Given the description of an element on the screen output the (x, y) to click on. 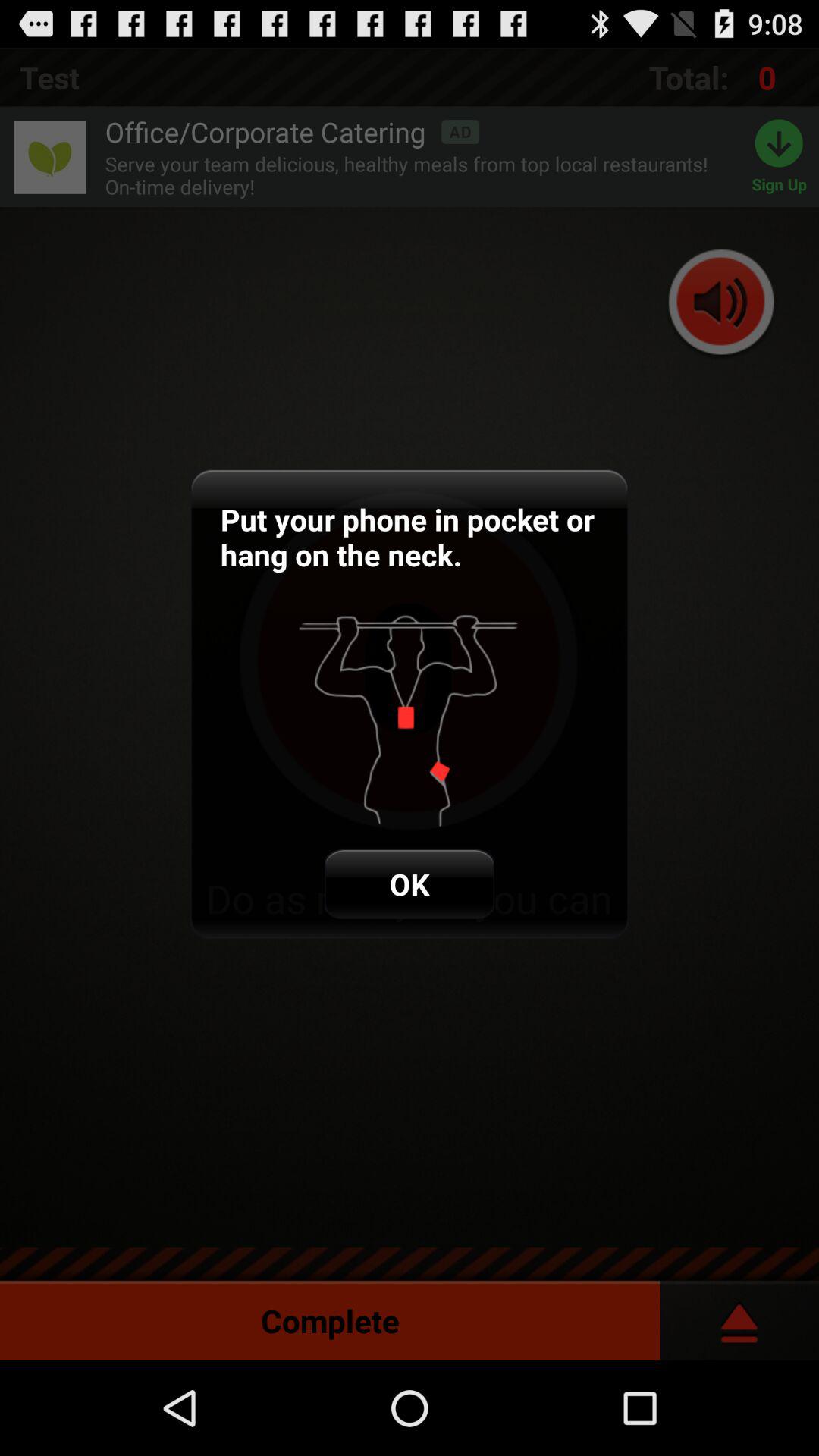
flip to ok item (409, 884)
